Given the description of an element on the screen output the (x, y) to click on. 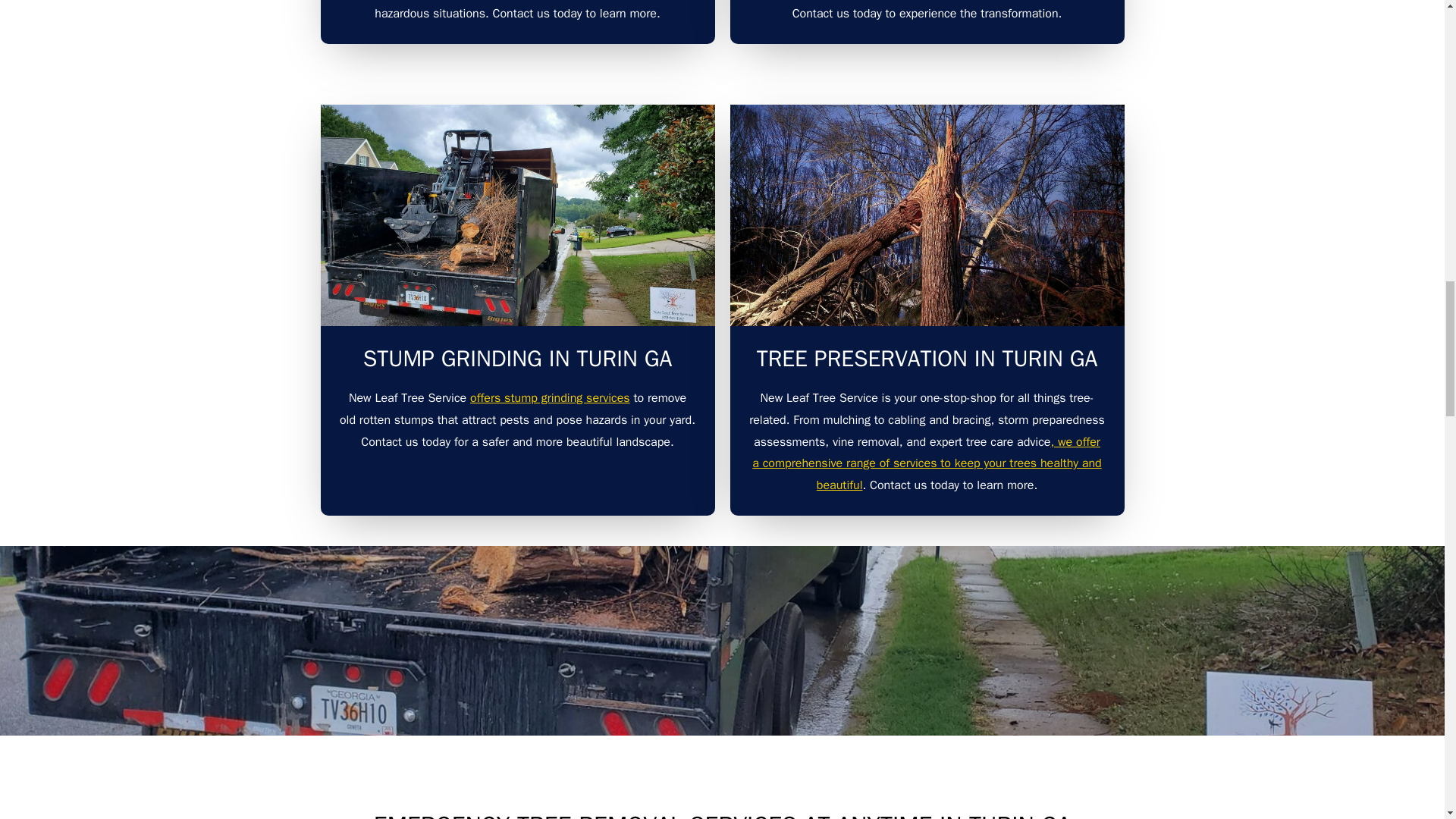
offers stump grinding services (550, 397)
